Given the description of an element on the screen output the (x, y) to click on. 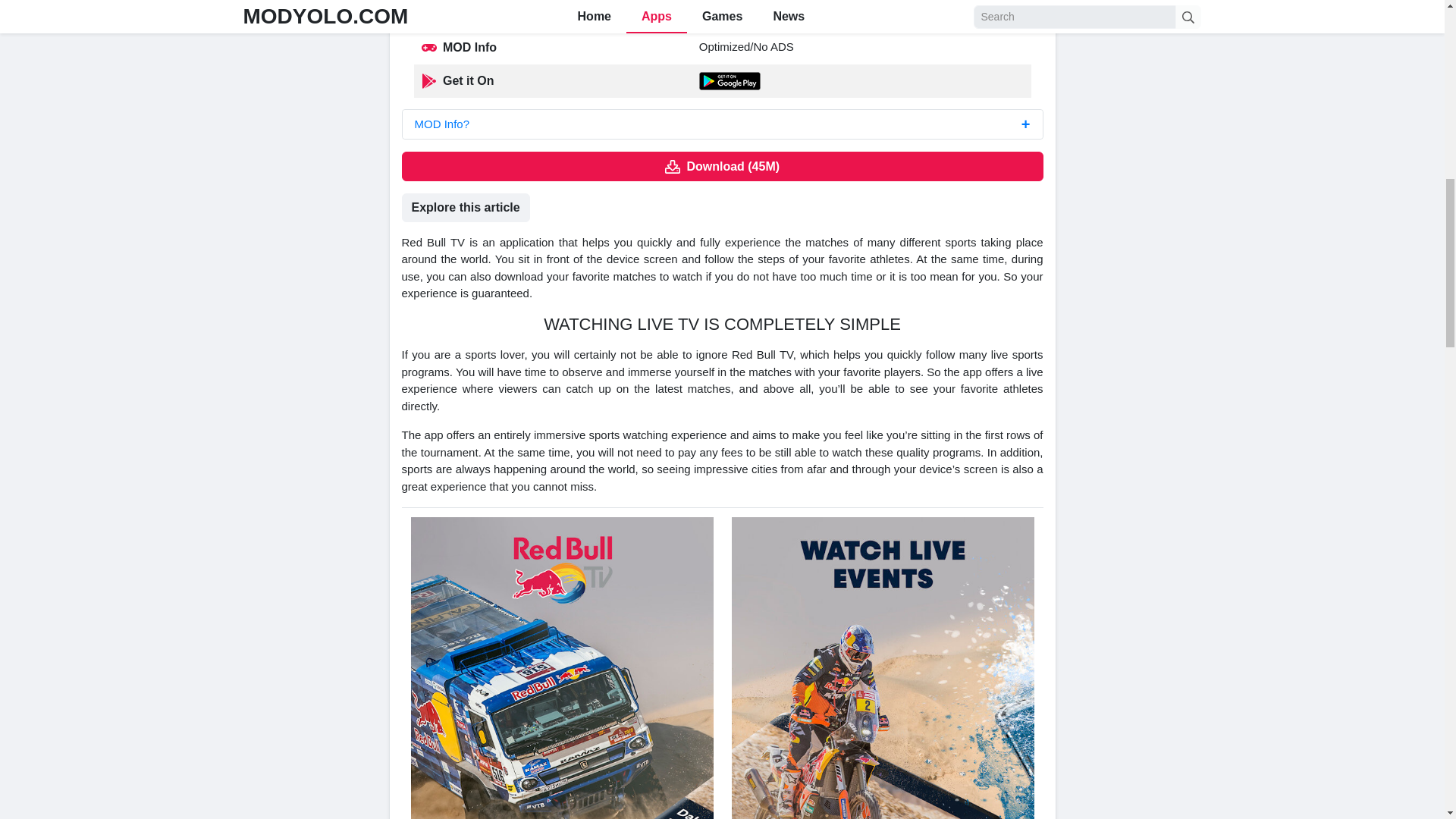
Explore this article (465, 207)
MOD Info? (721, 124)
